Given the description of an element on the screen output the (x, y) to click on. 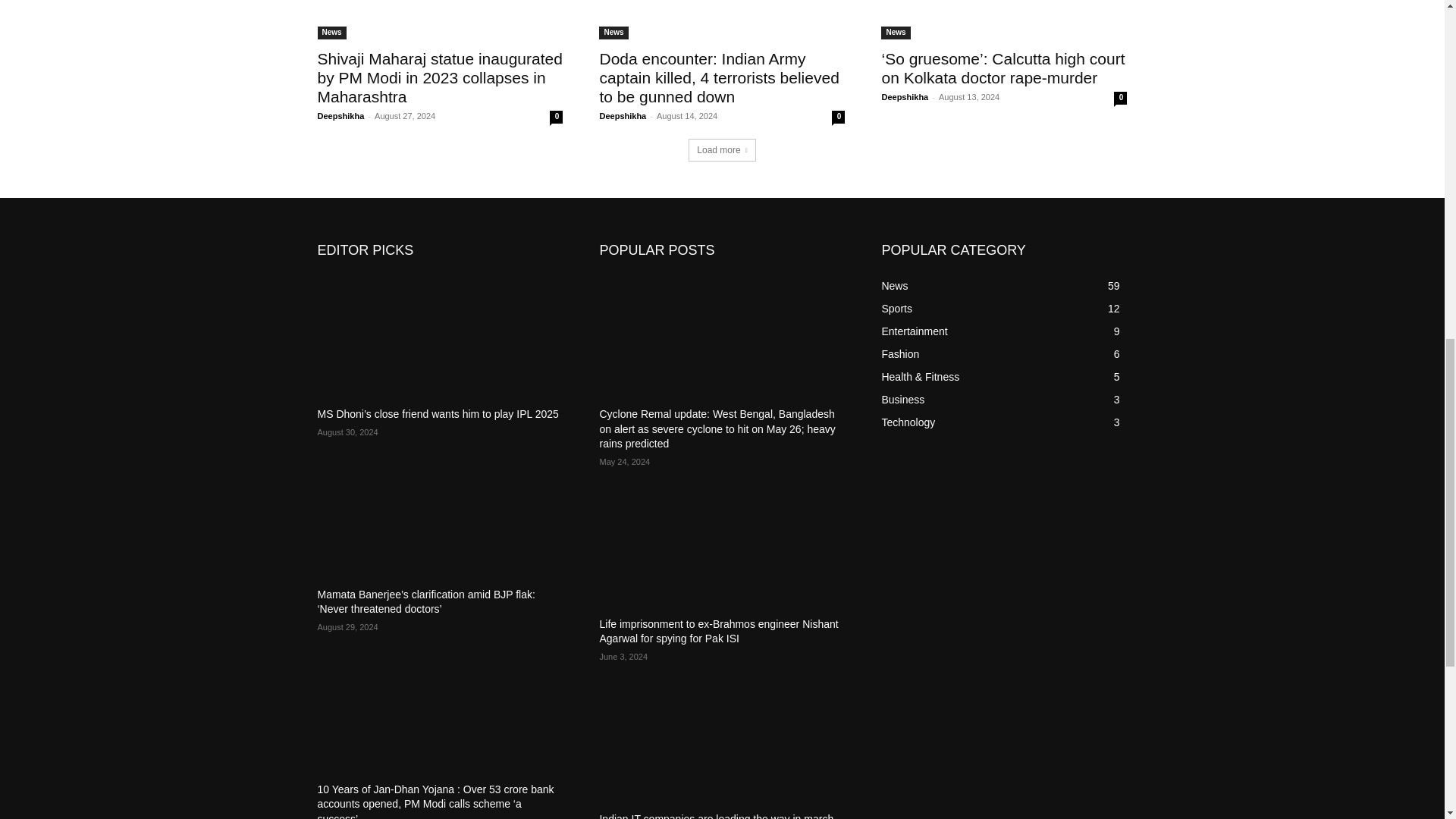
News (331, 32)
